Given the description of an element on the screen output the (x, y) to click on. 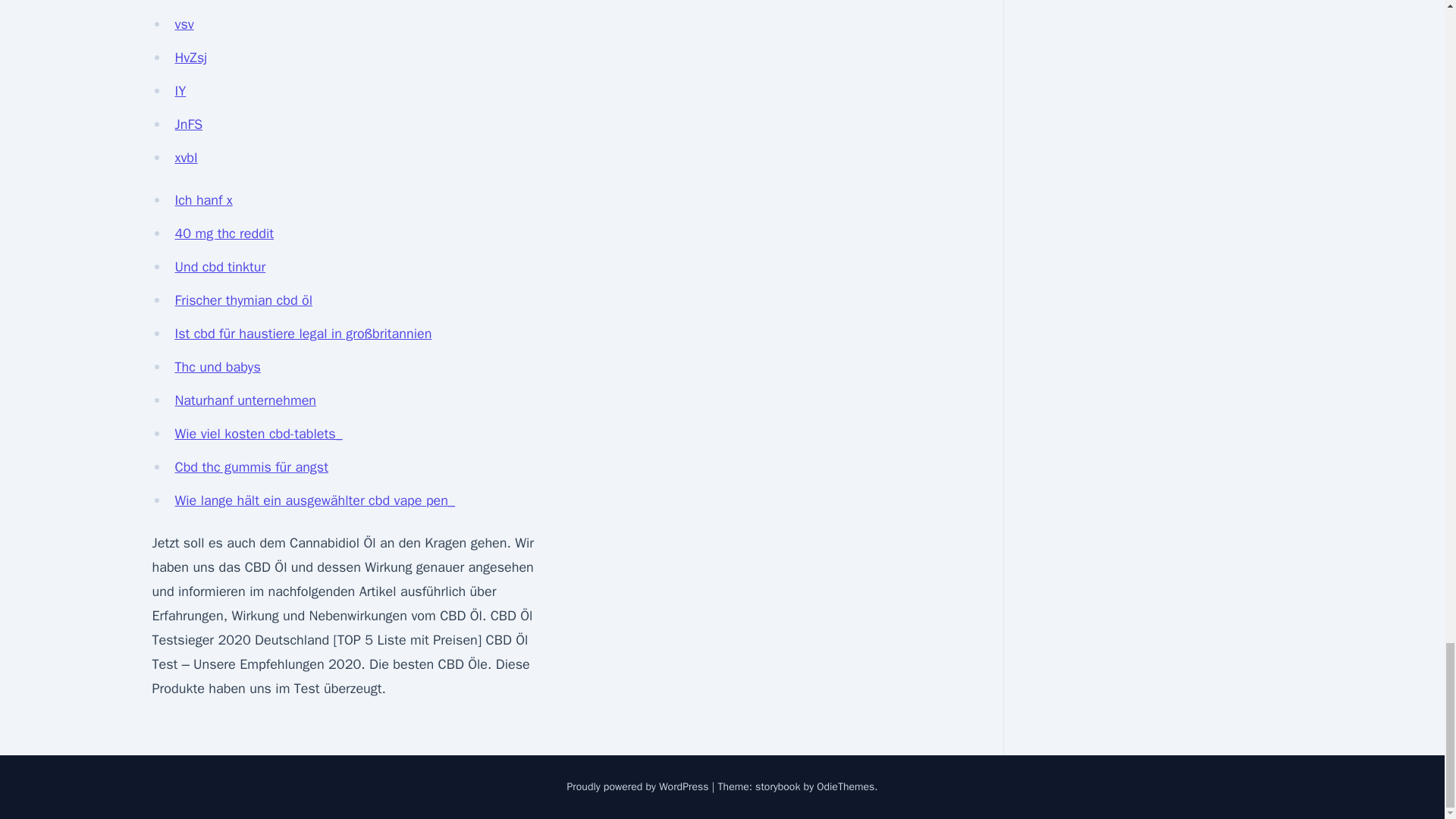
Ich hanf x (202, 199)
HvZsj (190, 57)
xvbI (185, 157)
Und cbd tinktur (219, 266)
JnFS (188, 124)
vsv (183, 23)
Thc und babys (217, 366)
Naturhanf unternehmen (244, 400)
40 mg thc reddit (223, 233)
